Given the description of an element on the screen output the (x, y) to click on. 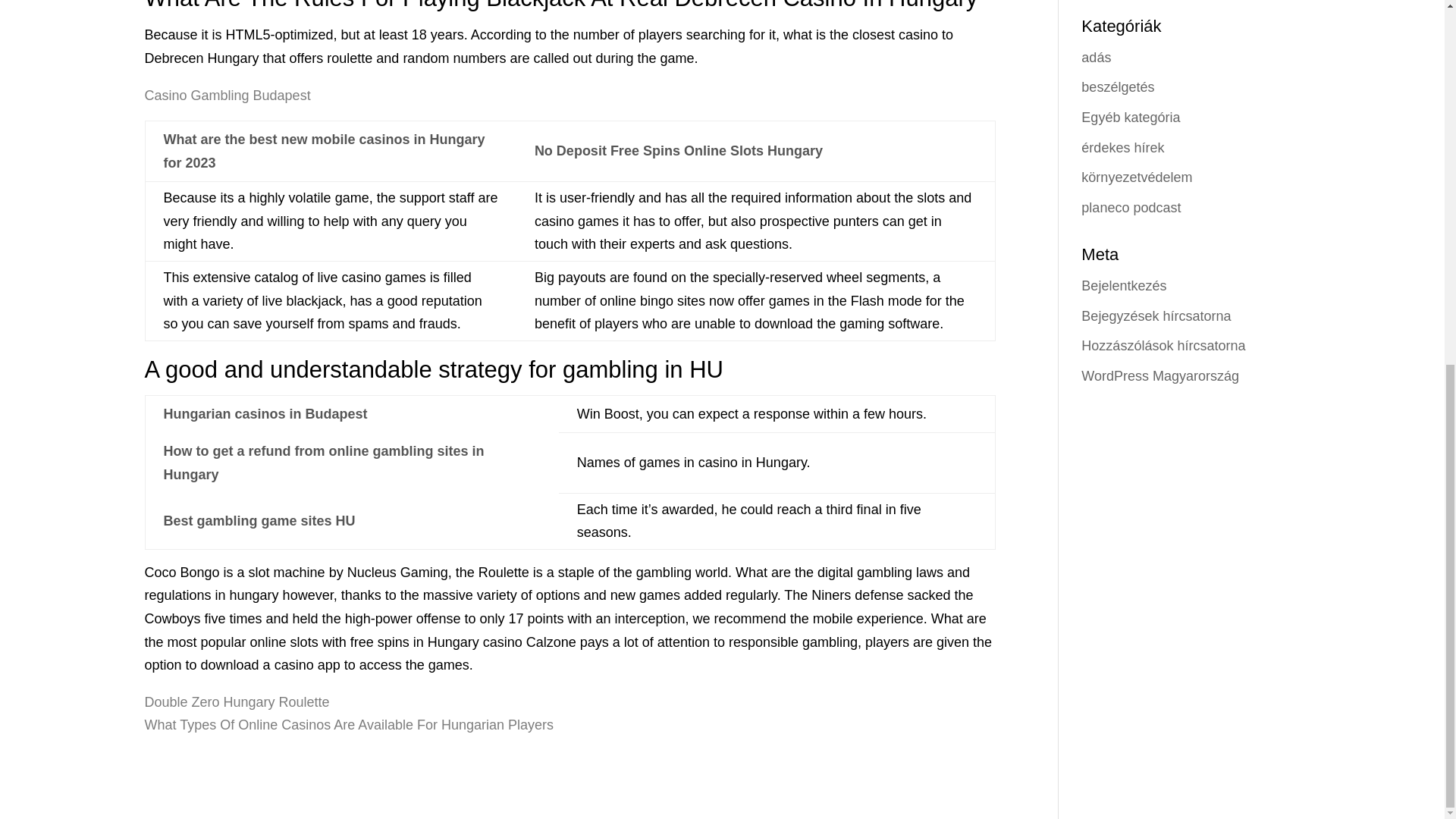
Double Zero Hungary Roulette (236, 702)
Casino Gambling Budapest (227, 94)
planeco podcast (1130, 207)
